Given the description of an element on the screen output the (x, y) to click on. 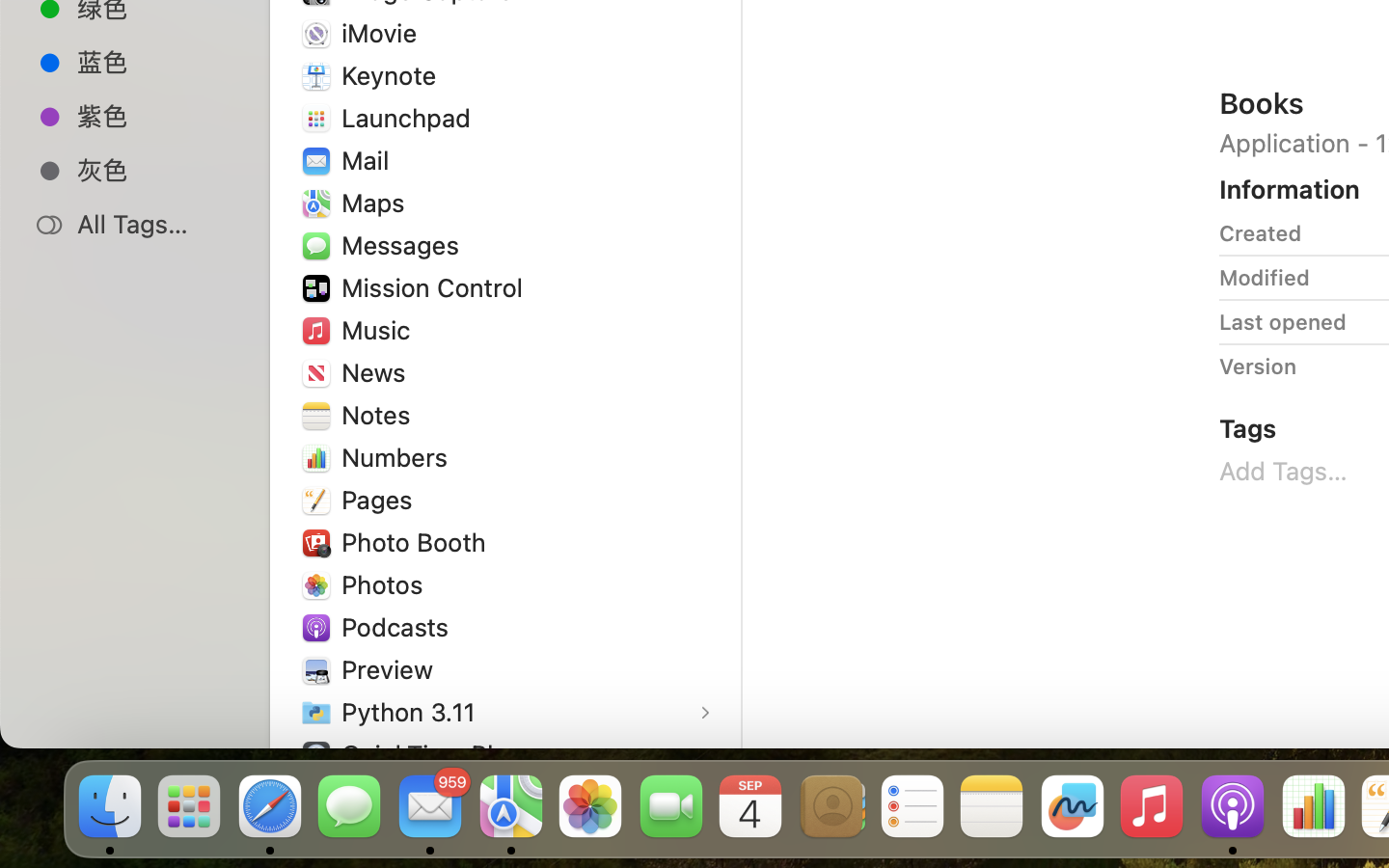
All Tags… Element type: AXStaticText (155, 223)
蓝色 Element type: AXStaticText (155, 61)
Pages Element type: AXTextField (380, 499)
Version Element type: AXStaticText (1257, 365)
Music Element type: AXTextField (379, 329)
